Given the description of an element on the screen output the (x, y) to click on. 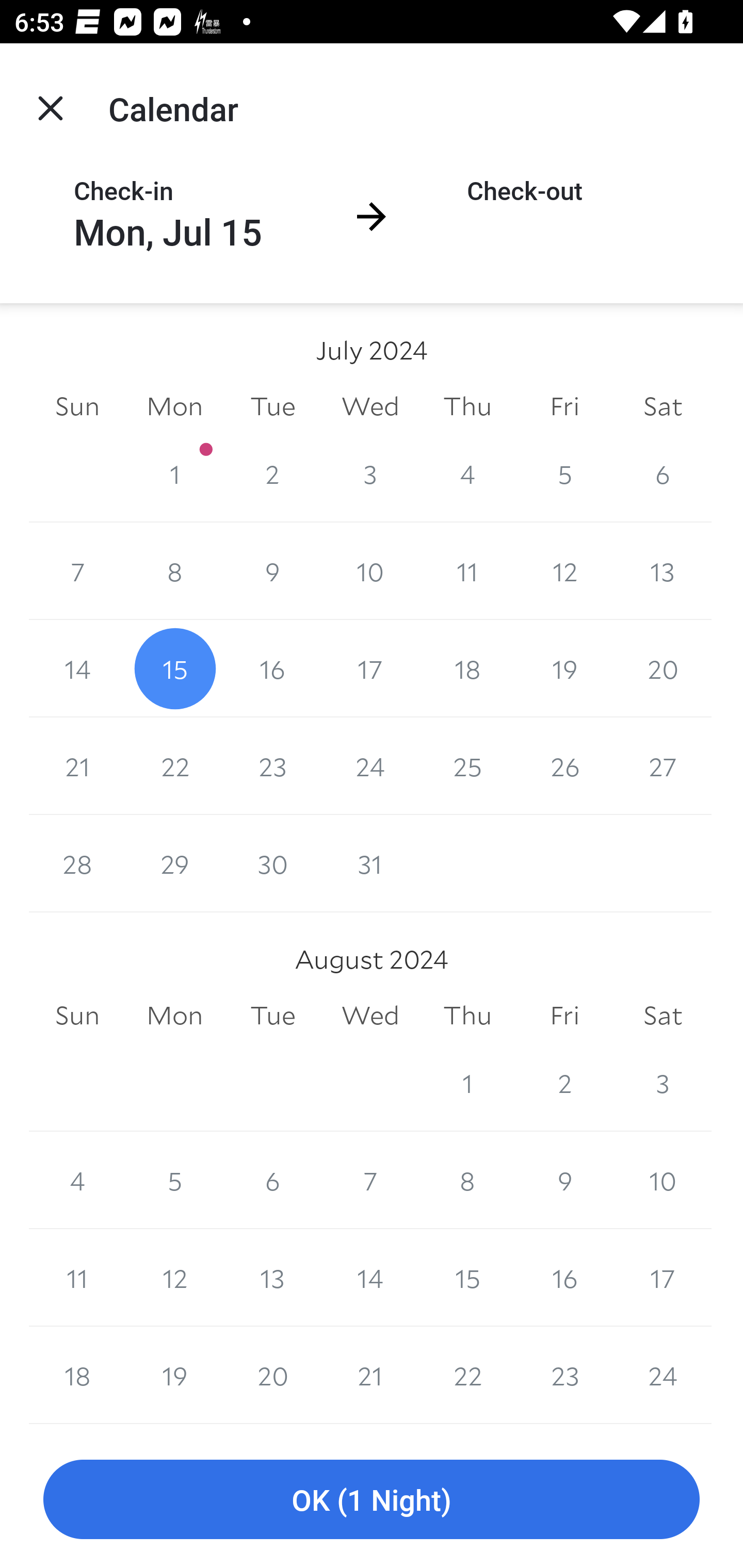
Sun (77, 405)
Mon (174, 405)
Tue (272, 405)
Wed (370, 405)
Thu (467, 405)
Fri (564, 405)
Sat (662, 405)
1 1 July 2024 (174, 473)
2 2 July 2024 (272, 473)
3 3 July 2024 (370, 473)
4 4 July 2024 (467, 473)
5 5 July 2024 (564, 473)
6 6 July 2024 (662, 473)
7 7 July 2024 (77, 570)
8 8 July 2024 (174, 570)
9 9 July 2024 (272, 570)
10 10 July 2024 (370, 570)
11 11 July 2024 (467, 570)
12 12 July 2024 (564, 570)
13 13 July 2024 (662, 570)
14 14 July 2024 (77, 668)
15 15 July 2024 (174, 668)
16 16 July 2024 (272, 668)
17 17 July 2024 (370, 668)
18 18 July 2024 (467, 668)
19 19 July 2024 (564, 668)
20 20 July 2024 (662, 668)
21 21 July 2024 (77, 766)
22 22 July 2024 (174, 766)
23 23 July 2024 (272, 766)
24 24 July 2024 (370, 766)
25 25 July 2024 (467, 766)
26 26 July 2024 (564, 766)
27 27 July 2024 (662, 766)
28 28 July 2024 (77, 863)
29 29 July 2024 (174, 863)
30 30 July 2024 (272, 863)
31 31 July 2024 (370, 863)
Sun (77, 1015)
Mon (174, 1015)
Tue (272, 1015)
Wed (370, 1015)
Thu (467, 1015)
Fri (564, 1015)
Sat (662, 1015)
1 1 August 2024 (467, 1083)
2 2 August 2024 (564, 1083)
3 3 August 2024 (662, 1083)
4 4 August 2024 (77, 1180)
